Given the description of an element on the screen output the (x, y) to click on. 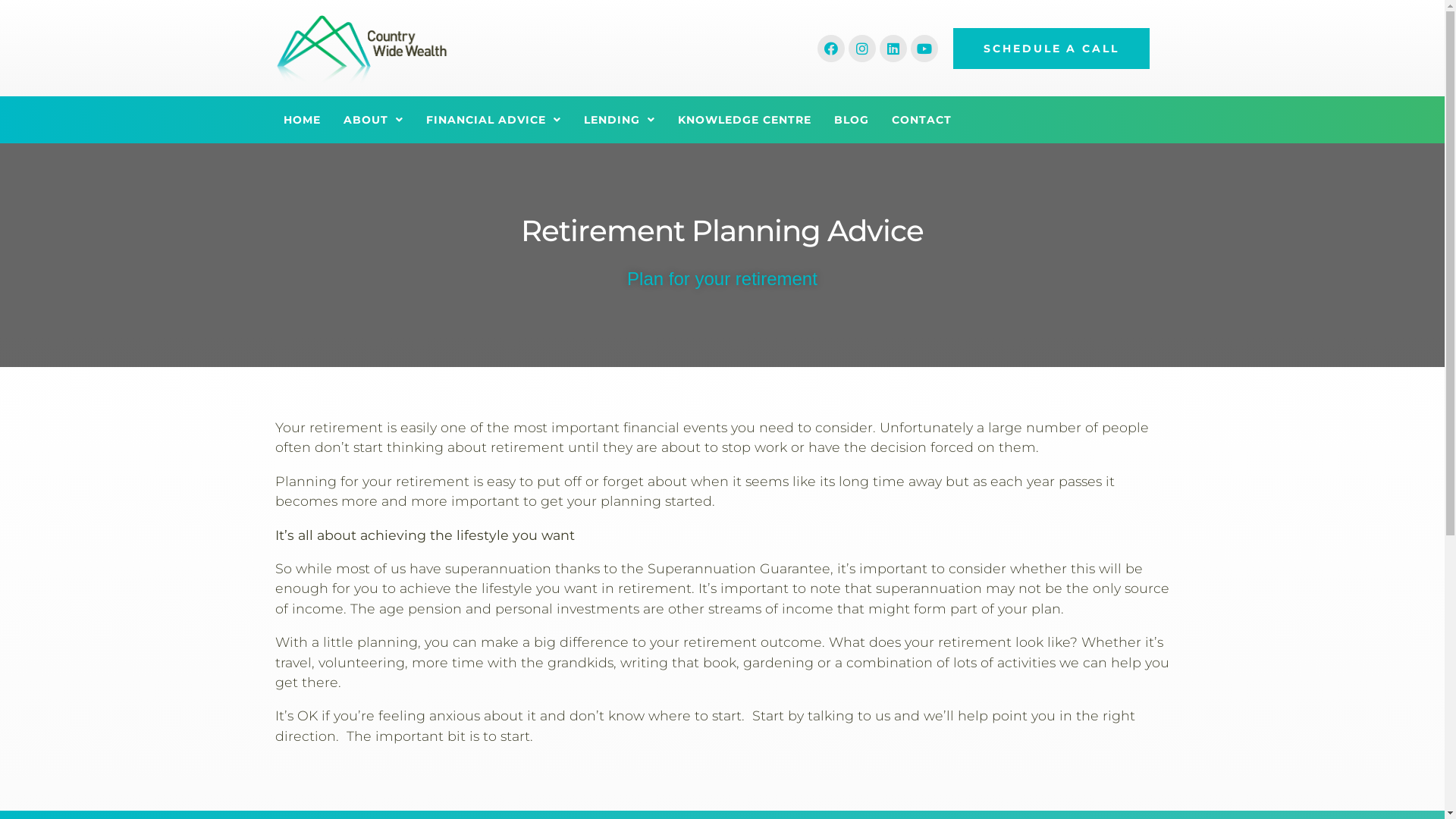
KNOWLEDGE CENTRE Element type: text (744, 119)
HOME Element type: text (301, 119)
BLOG Element type: text (851, 119)
CONTACT Element type: text (921, 119)
FINANCIAL ADVICE Element type: text (493, 119)
ABOUT Element type: text (373, 119)
LENDING Element type: text (619, 119)
SCHEDULE A CALL Element type: text (1051, 48)
